Given the description of an element on the screen output the (x, y) to click on. 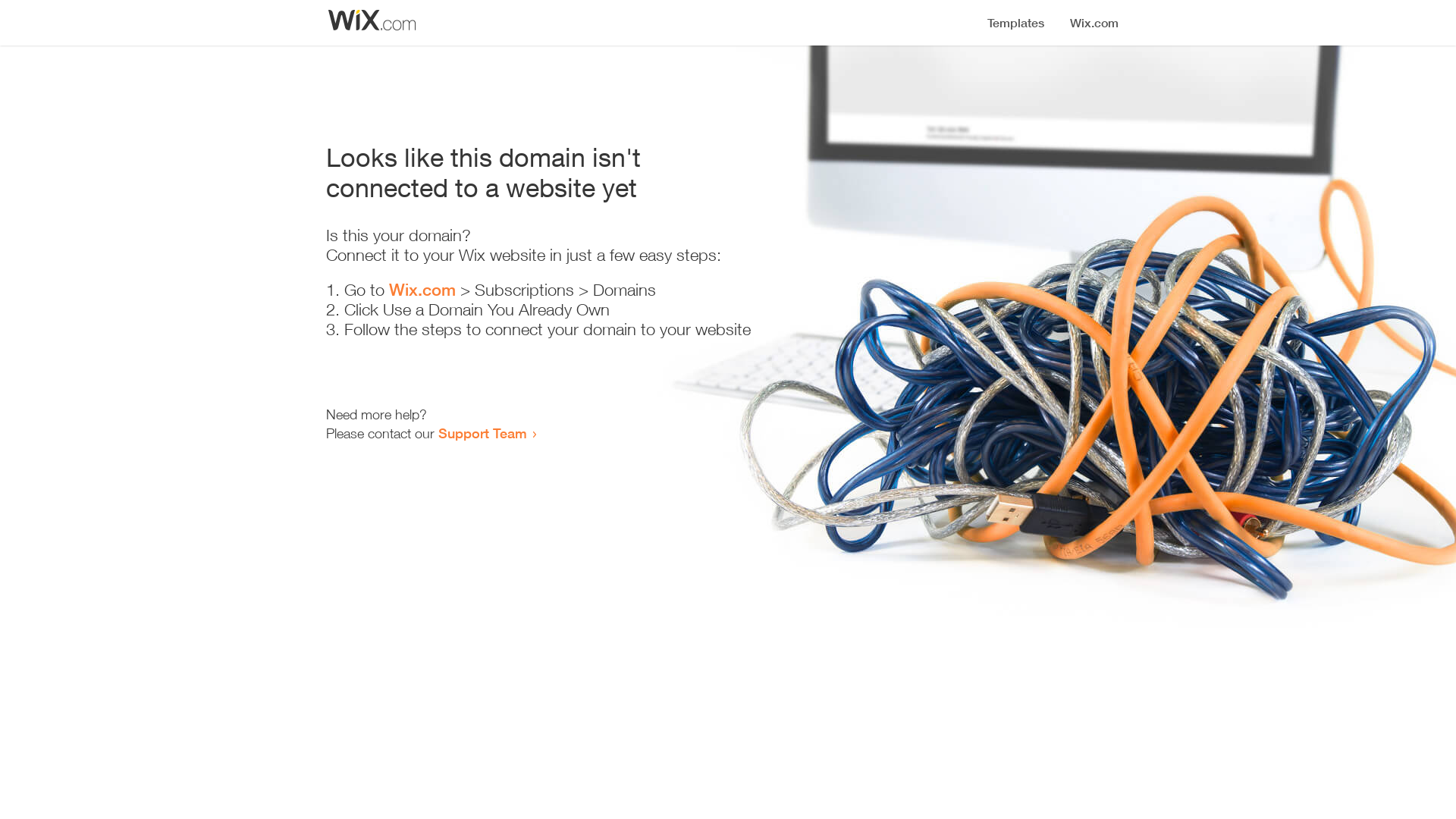
Support Team Element type: text (482, 432)
Wix.com Element type: text (422, 289)
